Given the description of an element on the screen output the (x, y) to click on. 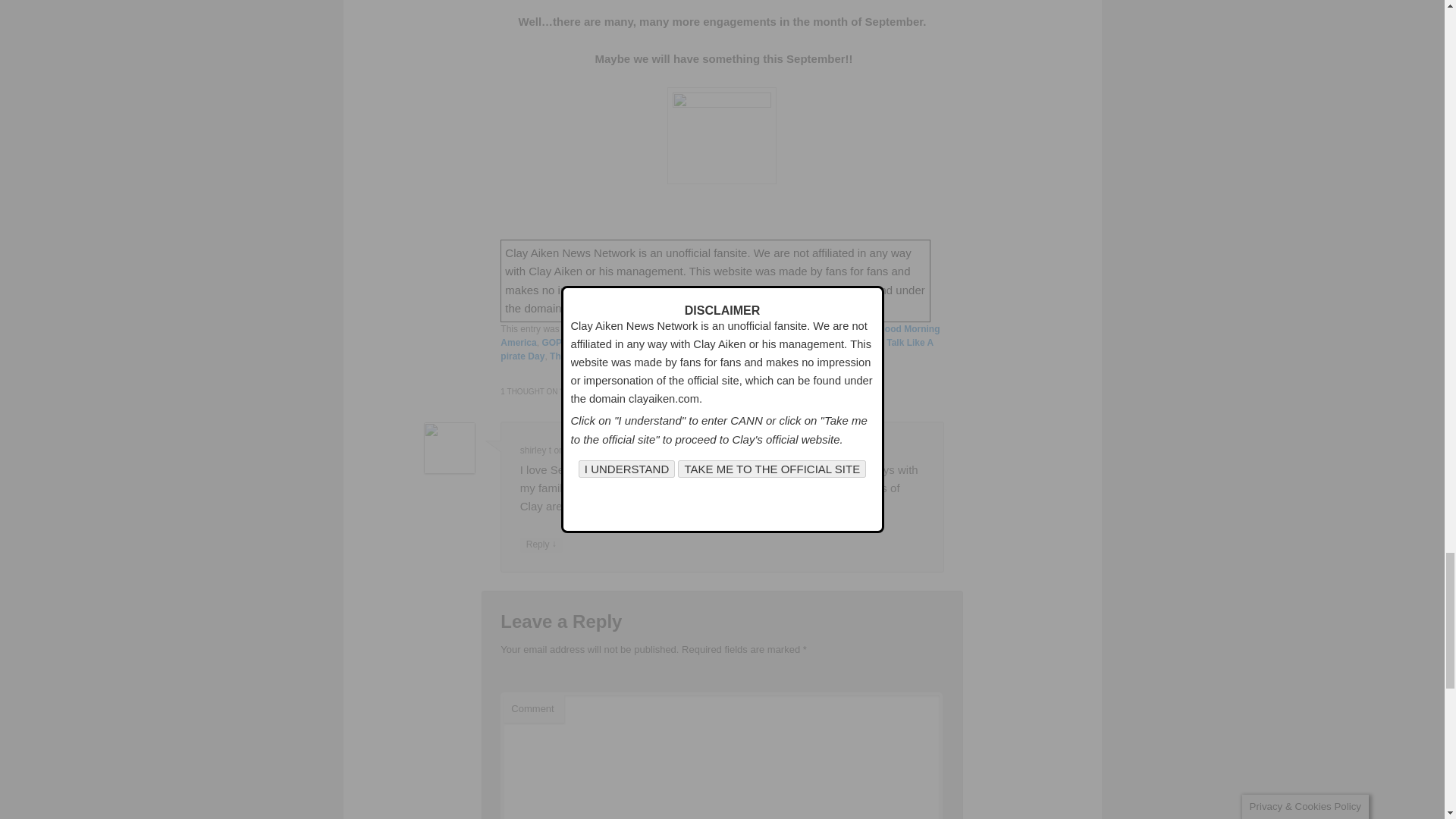
clayaiken.com. (602, 308)
September (812, 342)
GOP Presidential debate (594, 342)
Aladdin Premiere (784, 328)
Talk Like A pirate Day (716, 349)
permalink (845, 356)
Editorial (677, 328)
Spamalot (861, 342)
Clay Aiken (849, 328)
The Tonight Show with Jay Leno (620, 356)
Clay History (627, 328)
Good Morning America (719, 335)
Grandparent's Day (692, 342)
musicfan123 (732, 356)
Labor Day (760, 342)
